Given the description of an element on the screen output the (x, y) to click on. 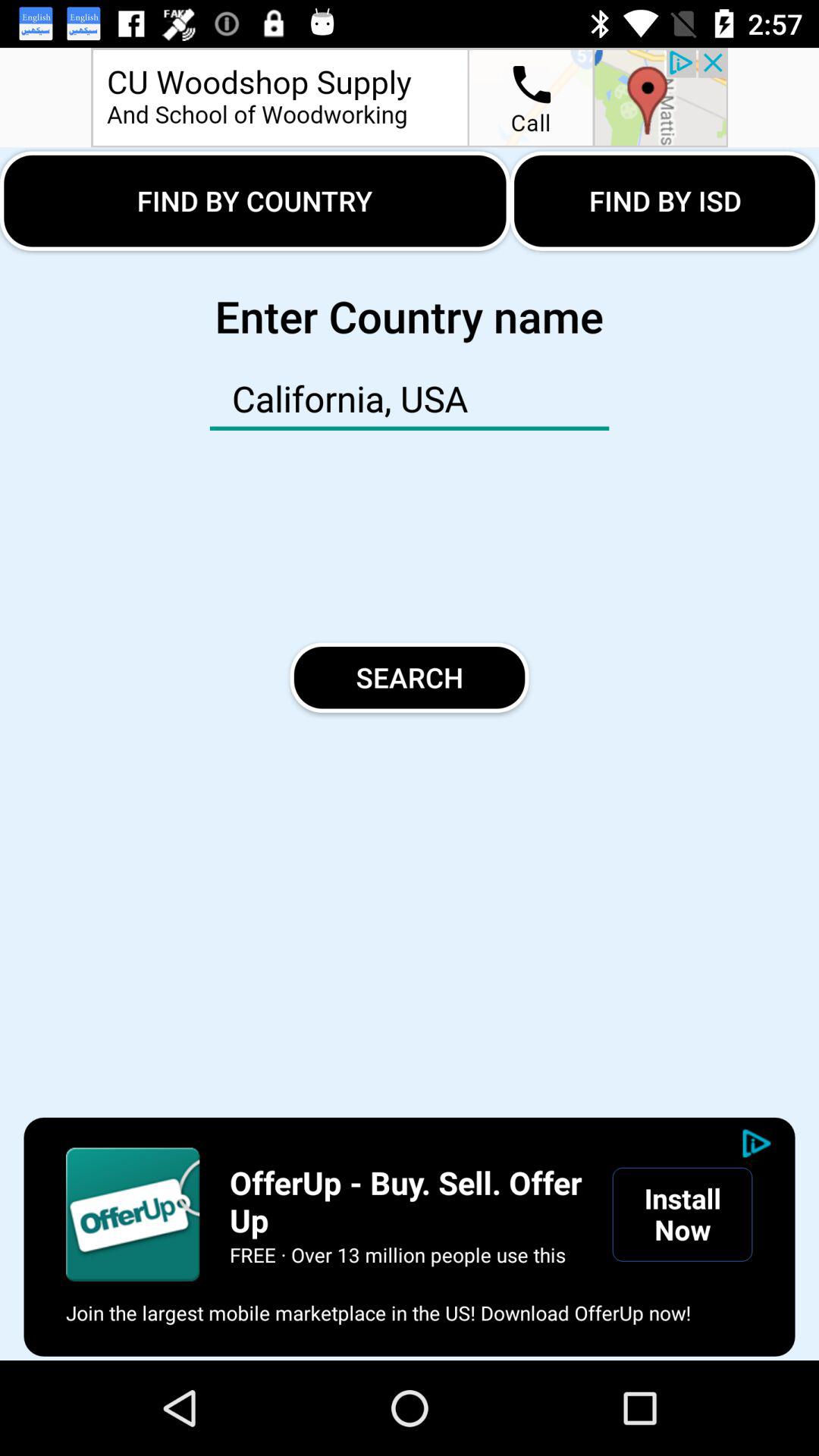
advertisement (409, 97)
